Given the description of an element on the screen output the (x, y) to click on. 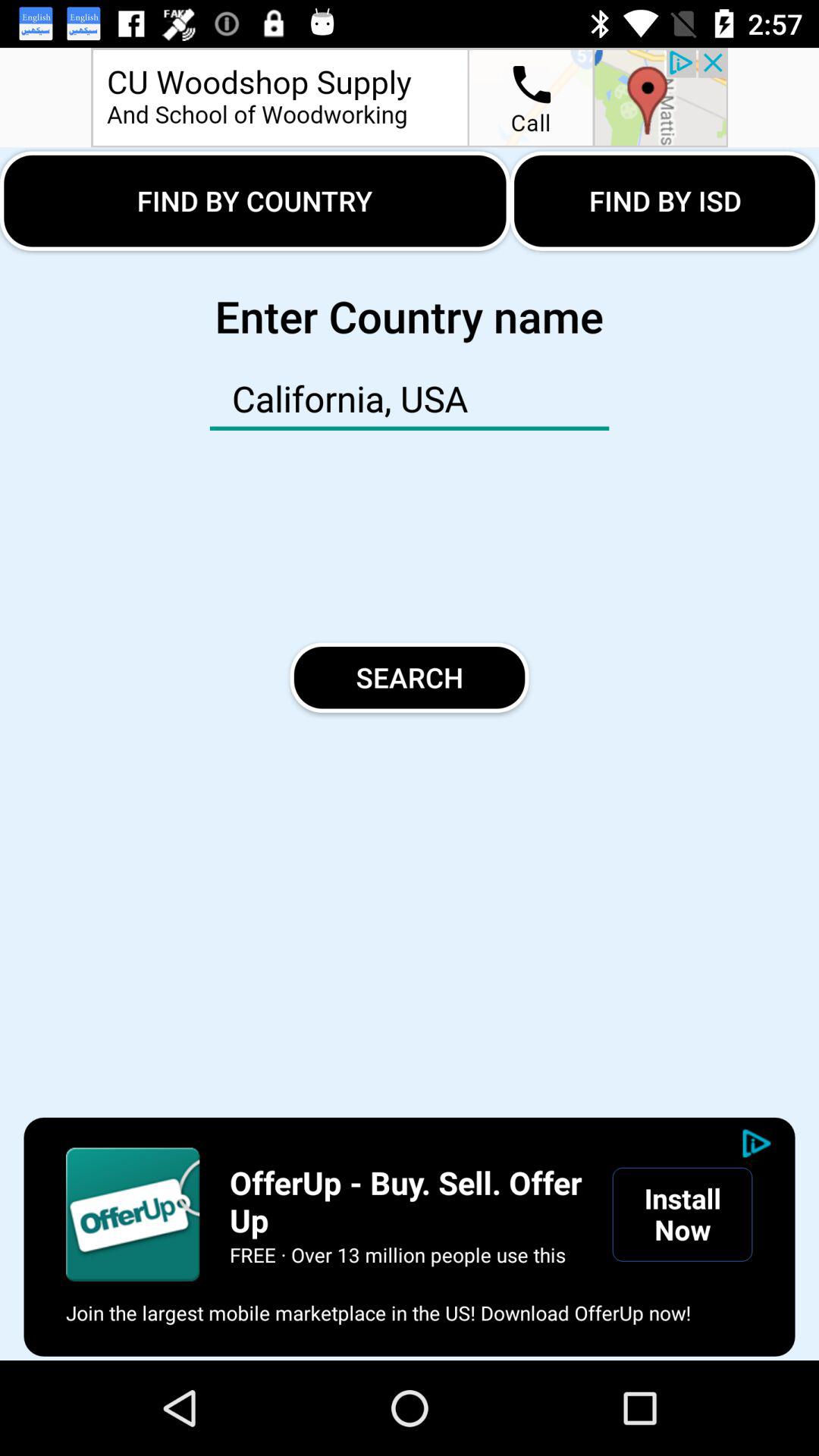
advertisement (409, 97)
